Given the description of an element on the screen output the (x, y) to click on. 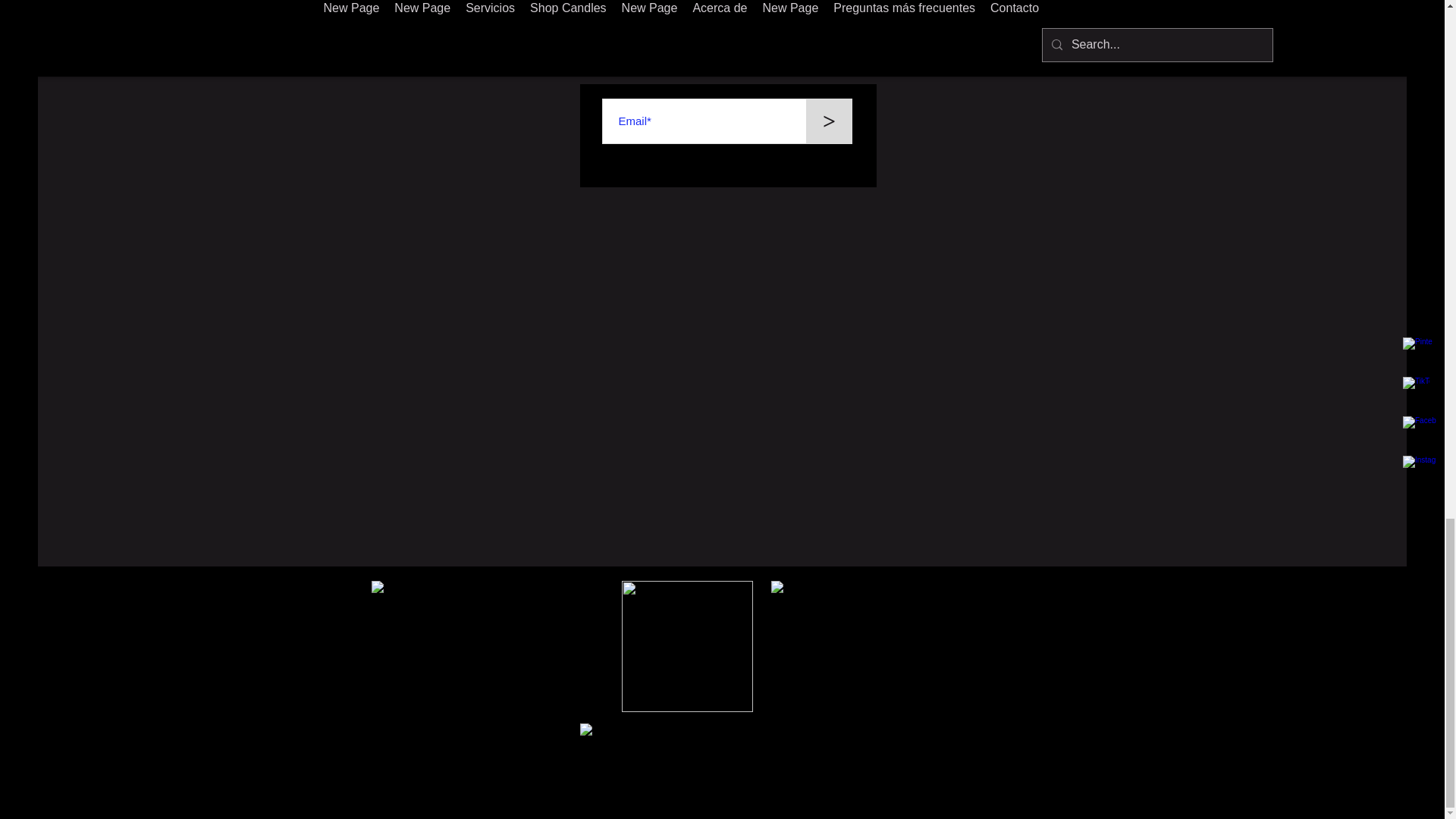
9CDA27C4-C490-48F8-B7E9-23B9501F1578.png (686, 645)
